Given the description of an element on the screen output the (x, y) to click on. 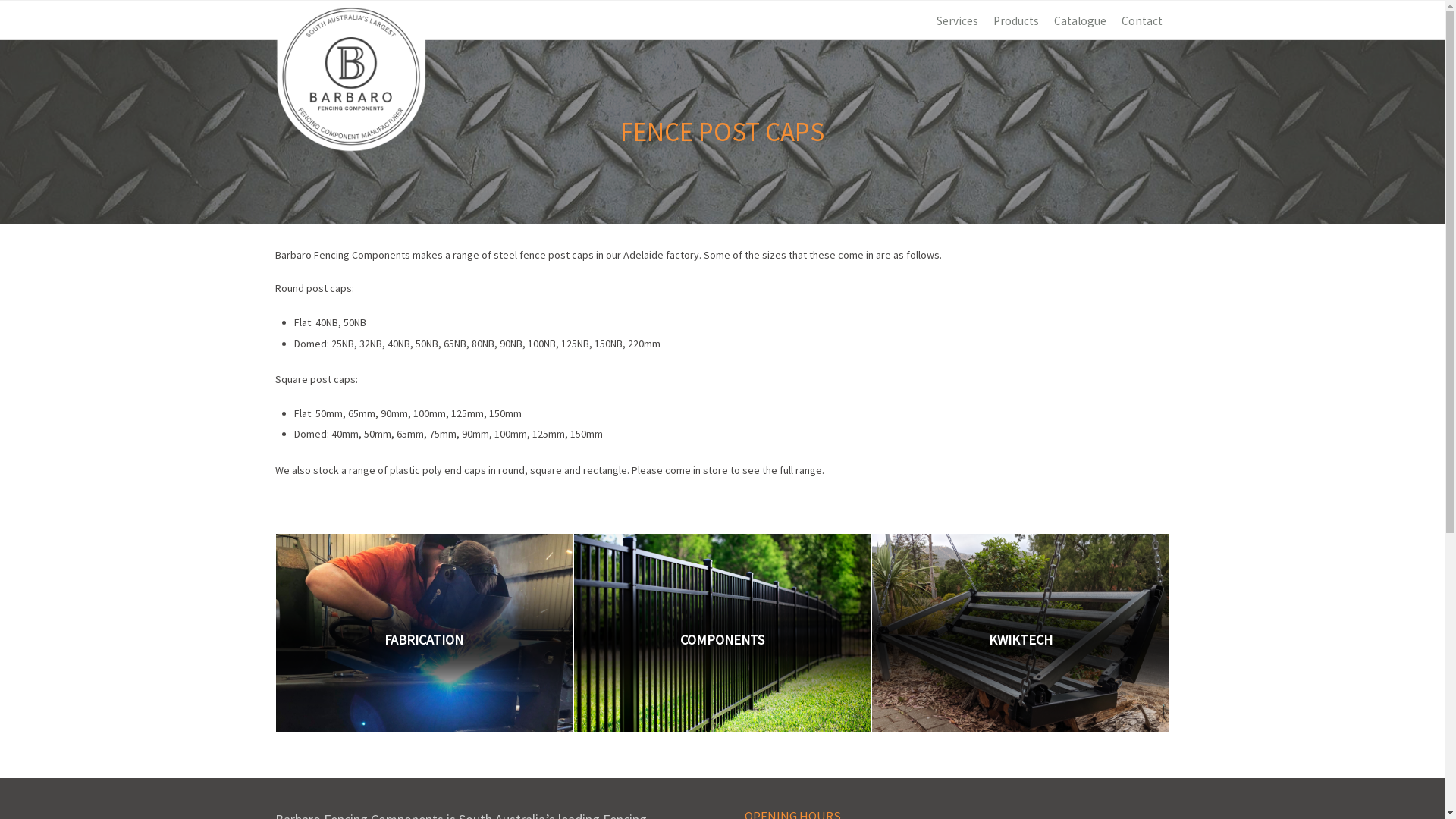
Products Element type: text (1015, 21)
Services Element type: text (956, 21)
Catalogue Element type: text (1079, 21)
Contact Element type: text (1141, 21)
